Given the description of an element on the screen output the (x, y) to click on. 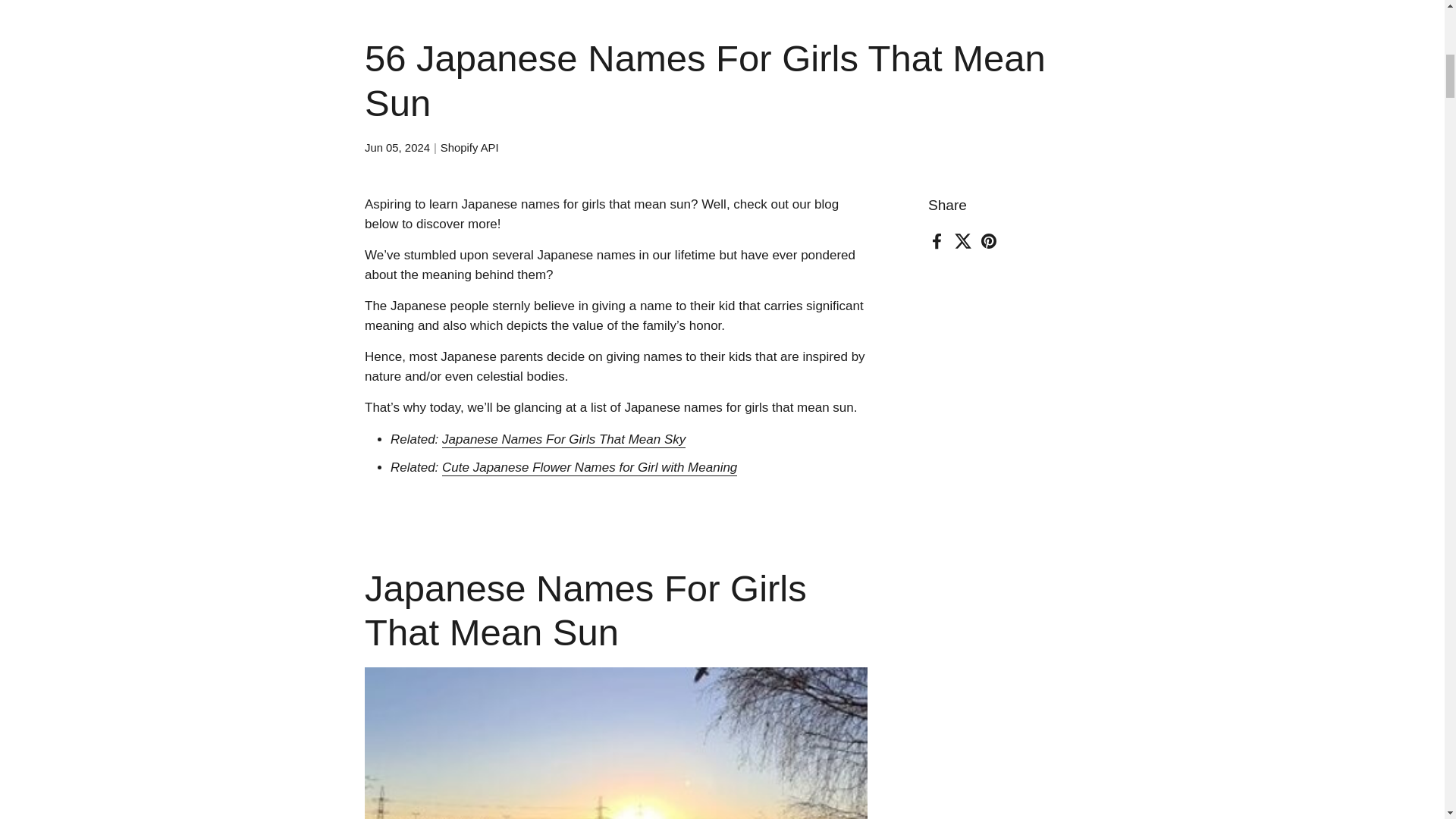
Cute Japanese Flower Names for Girl with Meaning (589, 467)
Japanese Names For Girls That Mean Sky (563, 439)
Pinterest (988, 240)
Facebook (937, 240)
